Given the description of an element on the screen output the (x, y) to click on. 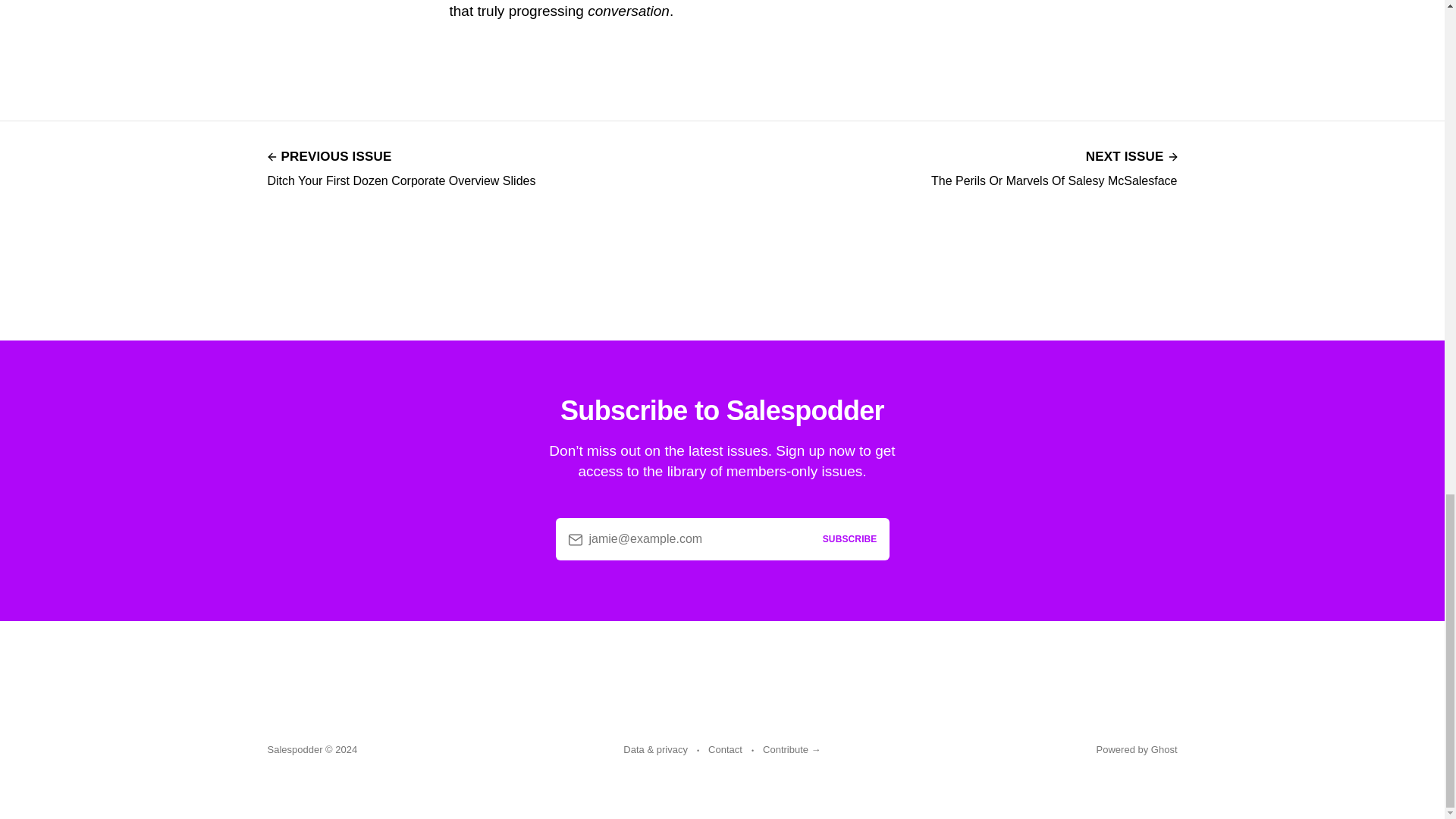
Contact (724, 750)
Powered by Ghost (1054, 167)
